Given the description of an element on the screen output the (x, y) to click on. 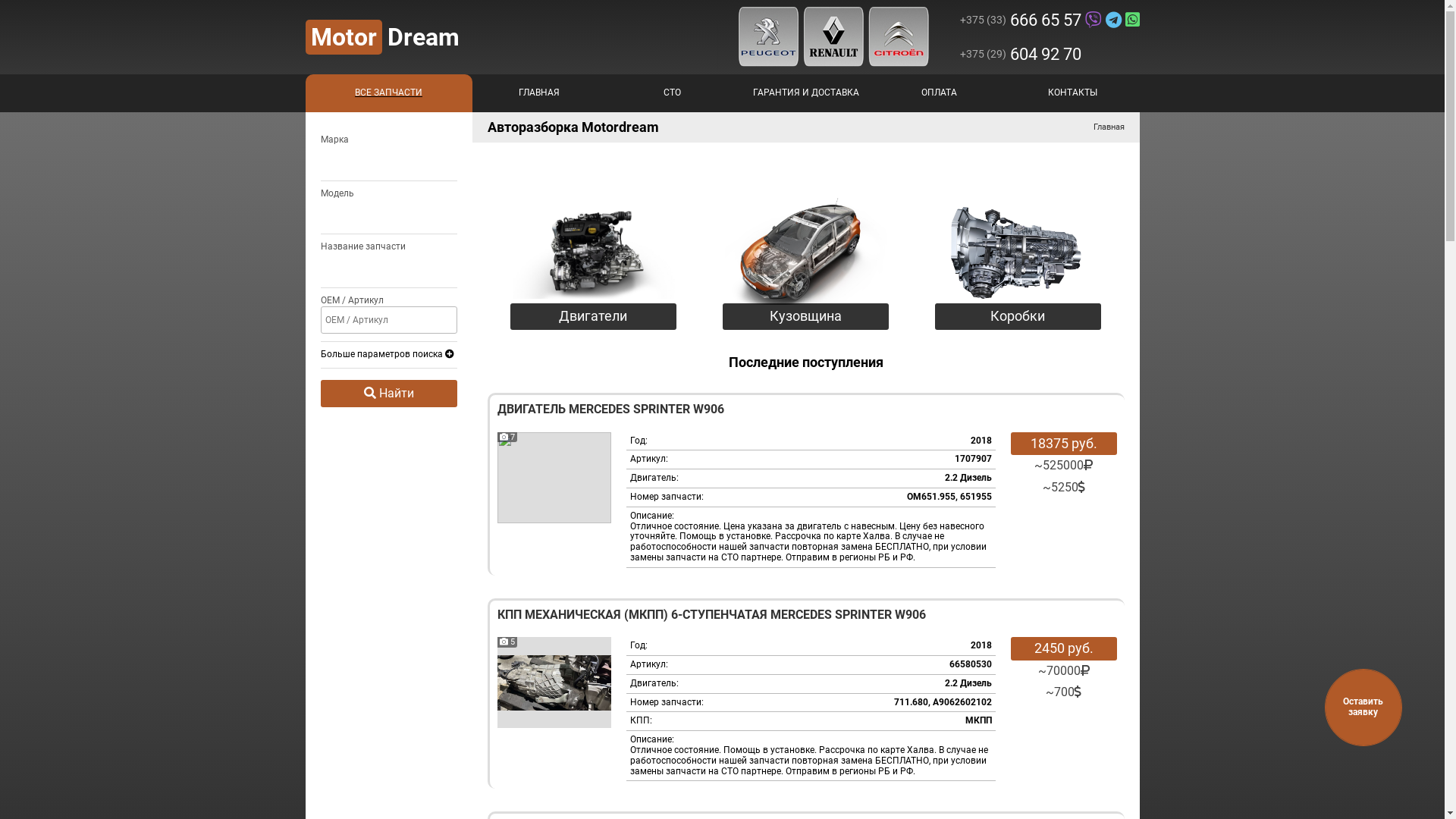
MotorDream Element type: text (381, 36)
5 Element type: text (554, 682)
+375 (33)
666 65 57 Element type: text (1049, 20)
7 Element type: text (554, 477)
+375 (29)
604 92 70 Element type: text (1049, 54)
